Given the description of an element on the screen output the (x, y) to click on. 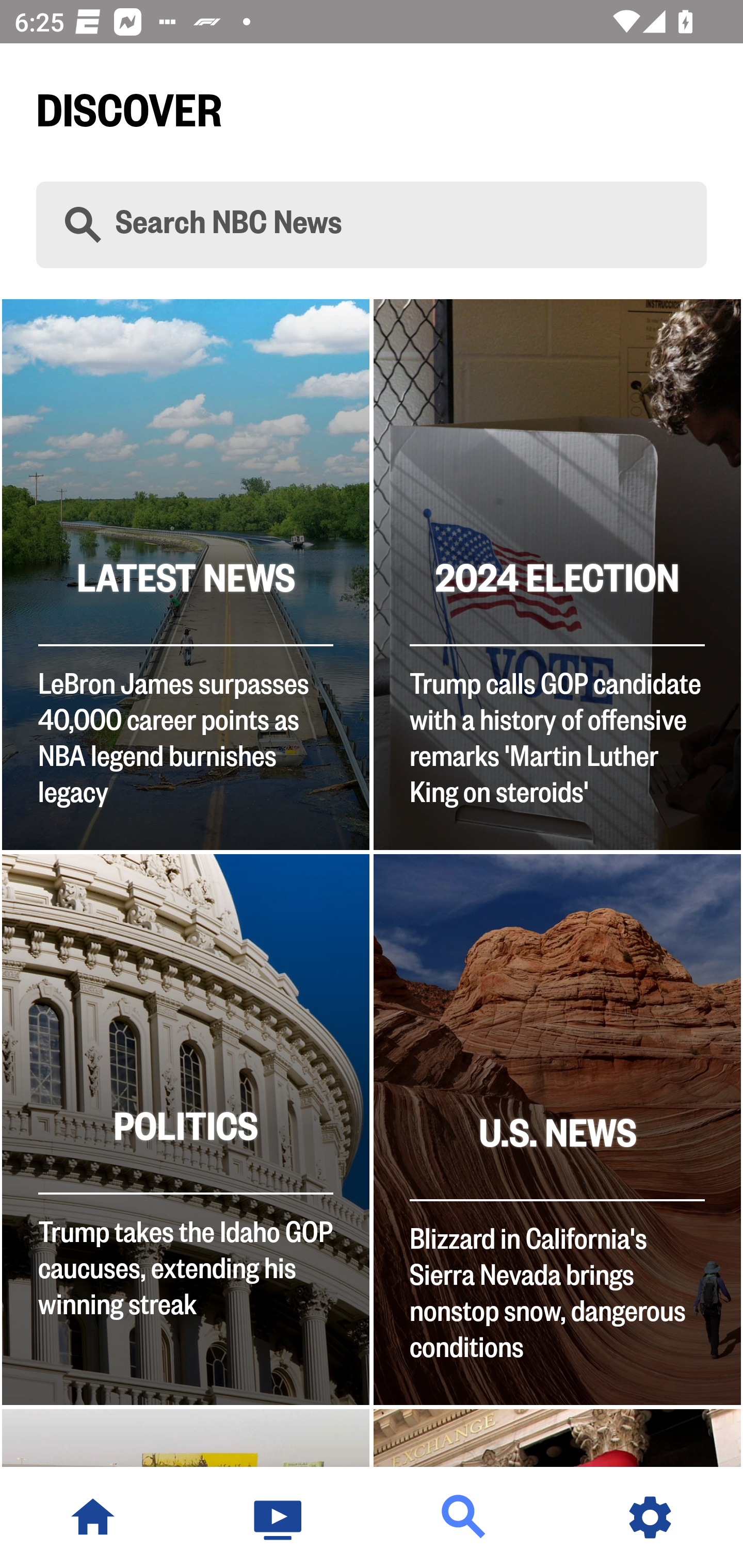
NBC News Home (92, 1517)
Watch (278, 1517)
Settings (650, 1517)
